Given the description of an element on the screen output the (x, y) to click on. 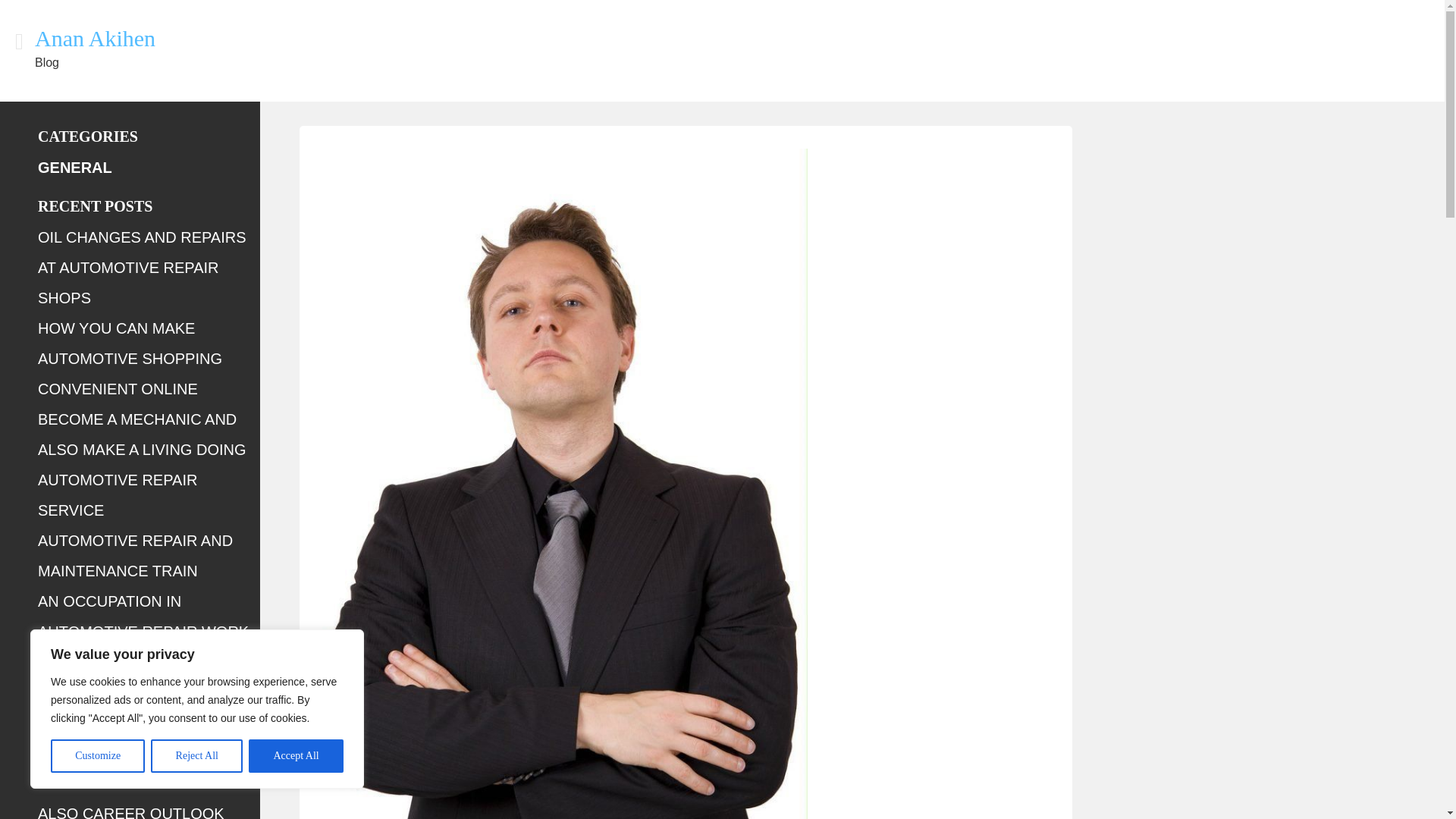
Anan Akihen (94, 37)
Customize (97, 756)
OIL CHANGES AND REPAIRS AT AUTOMOTIVE REPAIR SHOPS (141, 267)
Reject All (197, 756)
Accept All (295, 756)
GENERAL (74, 167)
